Given the description of an element on the screen output the (x, y) to click on. 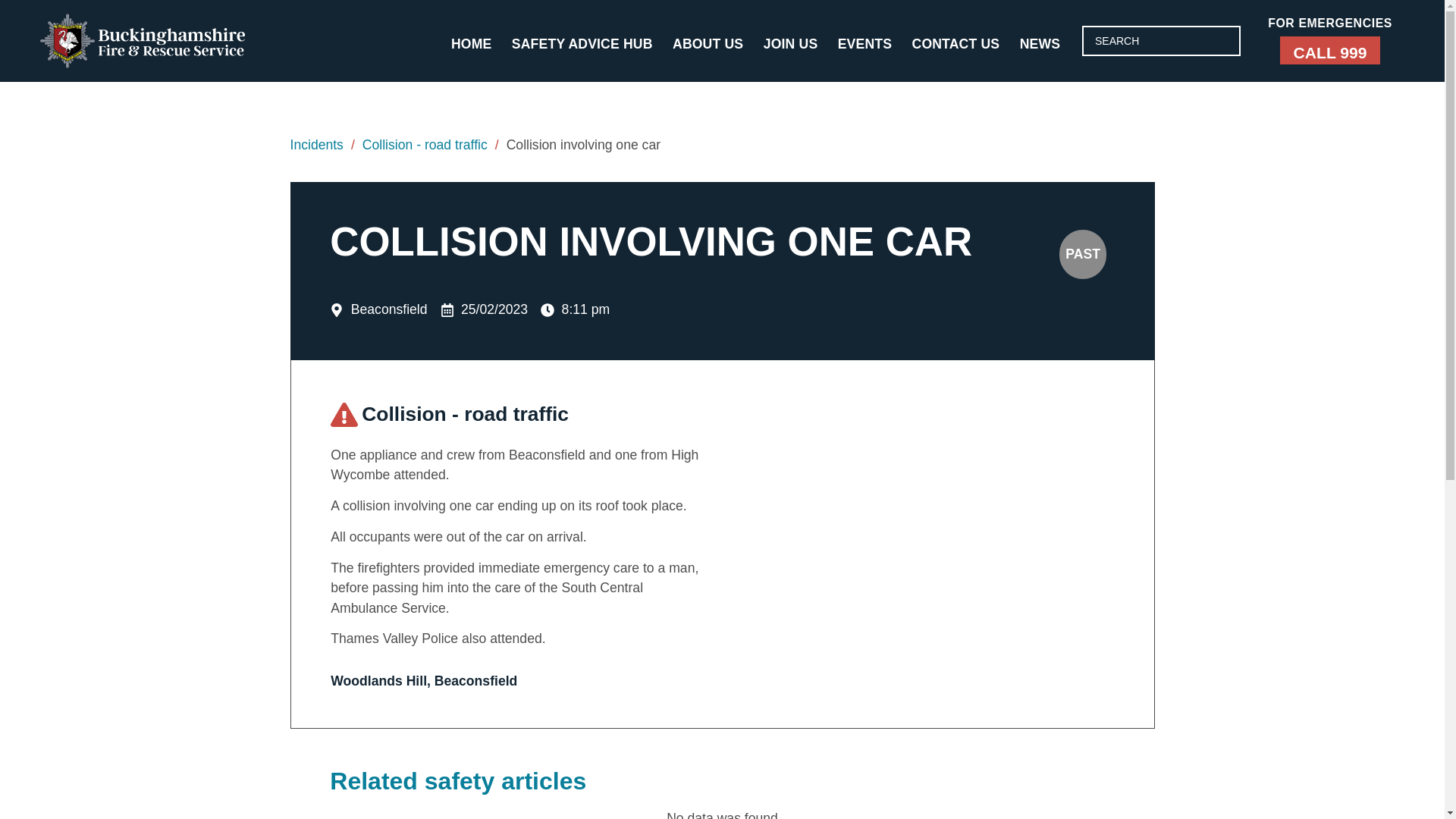
CONTACT US (955, 43)
SAFETY ADVICE HUB (582, 43)
HOME (470, 43)
JOIN US (790, 43)
ABOUT US (707, 43)
Woodlands Hill, Beaconsfield (919, 539)
EVENTS (864, 43)
